Given the description of an element on the screen output the (x, y) to click on. 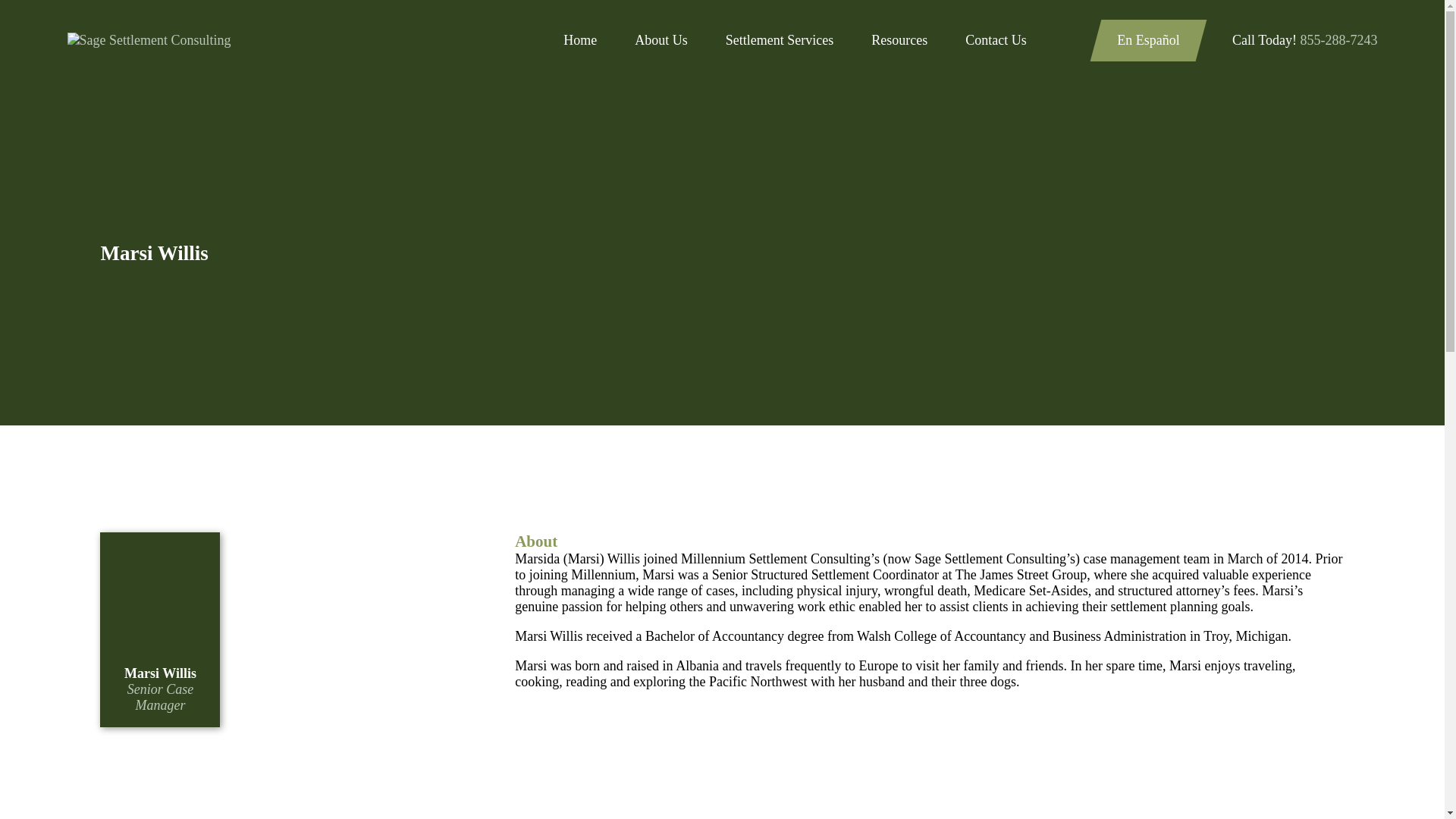
Home (148, 40)
Resources (898, 40)
Settlement Services (778, 40)
Contact Us (995, 40)
About Us (660, 40)
